Given the description of an element on the screen output the (x, y) to click on. 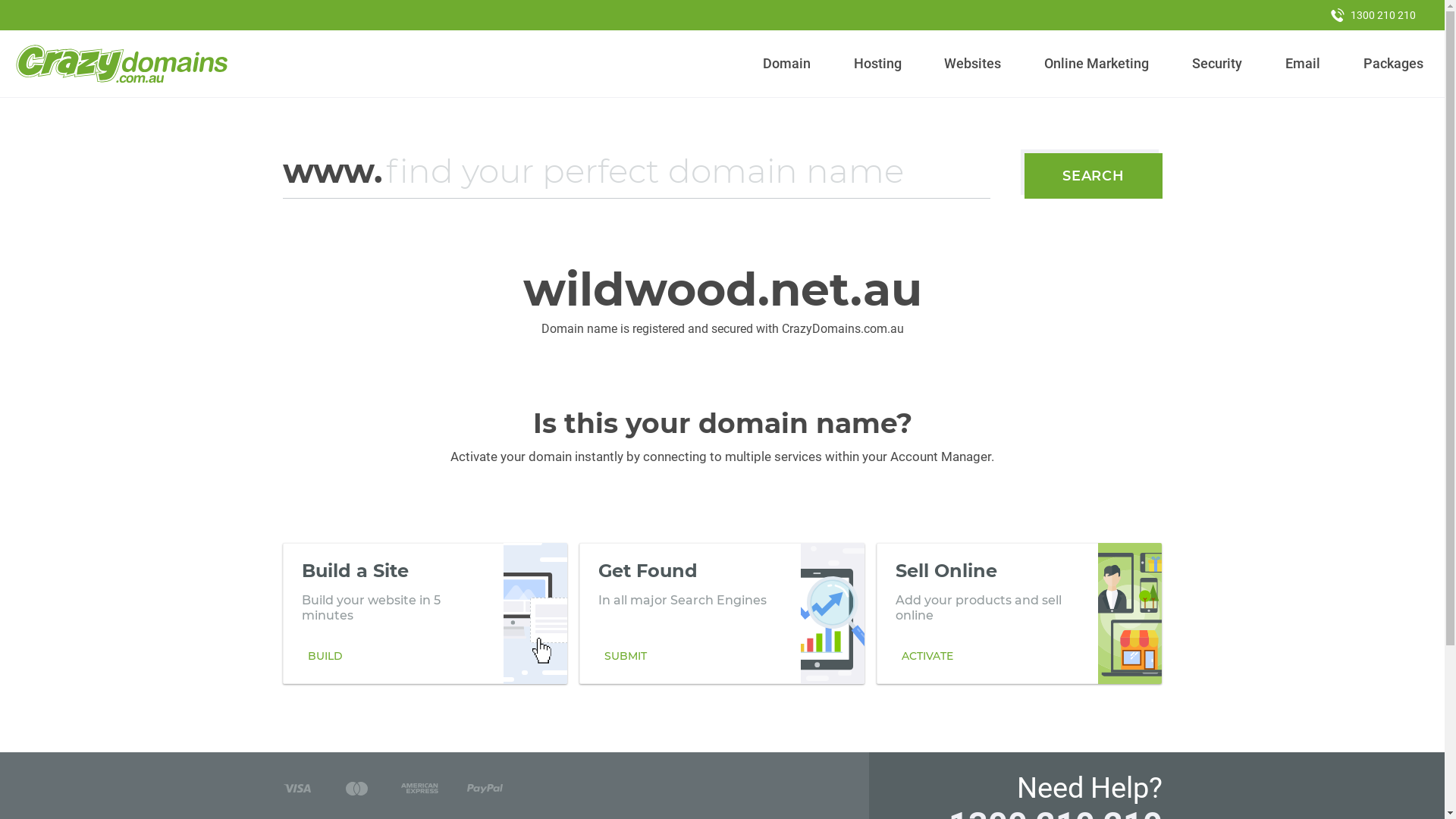
Get Found
In all major Search Engines
SUBMIT Element type: text (721, 613)
Email Element type: text (1302, 63)
SEARCH Element type: text (1092, 175)
1300 210 210 Element type: text (1373, 15)
Domain Element type: text (786, 63)
Sell Online
Add your products and sell online
ACTIVATE Element type: text (1018, 613)
Hosting Element type: text (877, 63)
Security Element type: text (1217, 63)
Packages Element type: text (1392, 63)
Build a Site
Build your website in 5 minutes
BUILD Element type: text (424, 613)
Online Marketing Element type: text (1096, 63)
Websites Element type: text (972, 63)
